Given the description of an element on the screen output the (x, y) to click on. 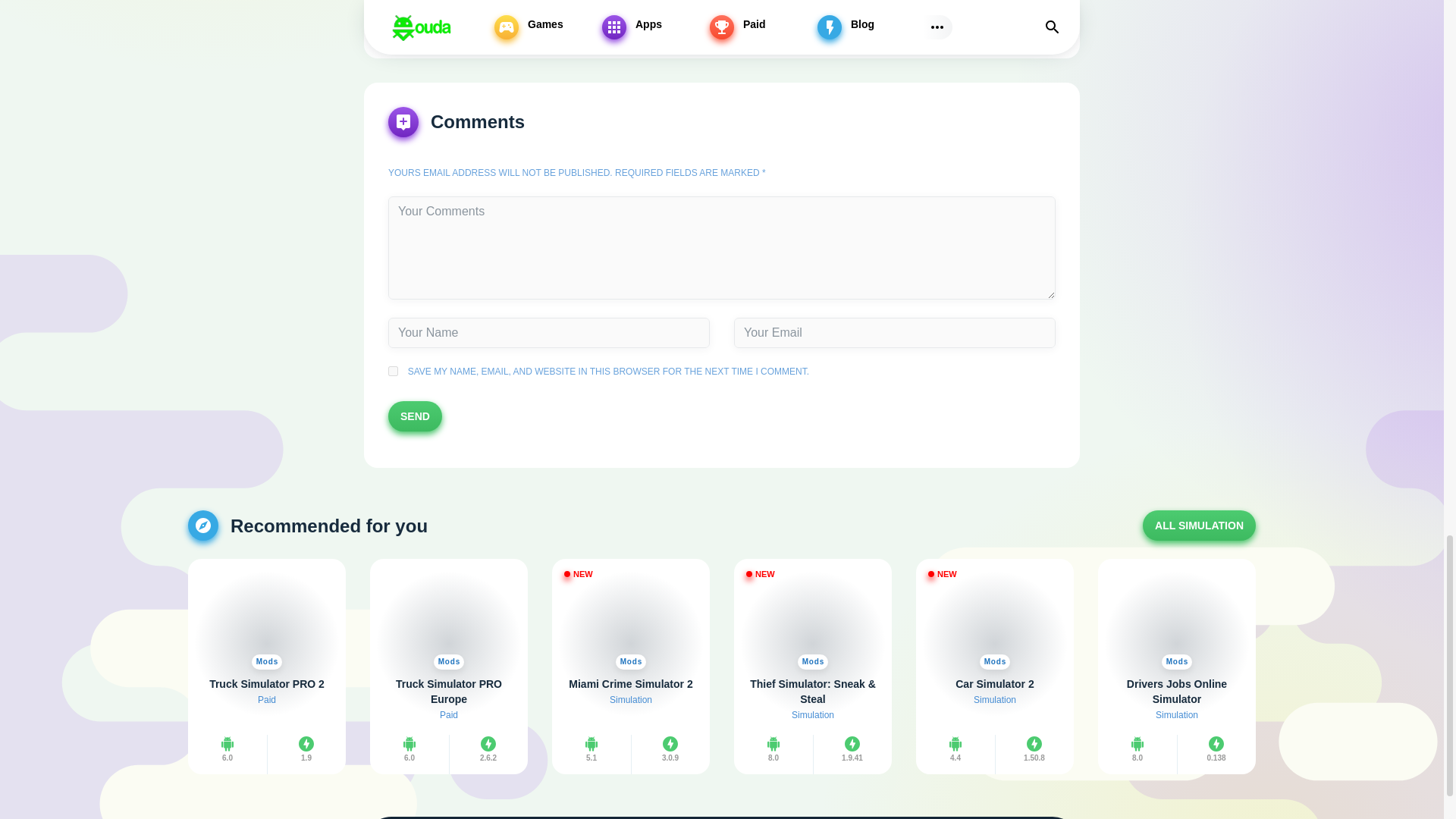
yes (392, 370)
truck-simulator-pro-2.png (266, 619)
truck-simulator-pro-europe.png (449, 619)
